Given the description of an element on the screen output the (x, y) to click on. 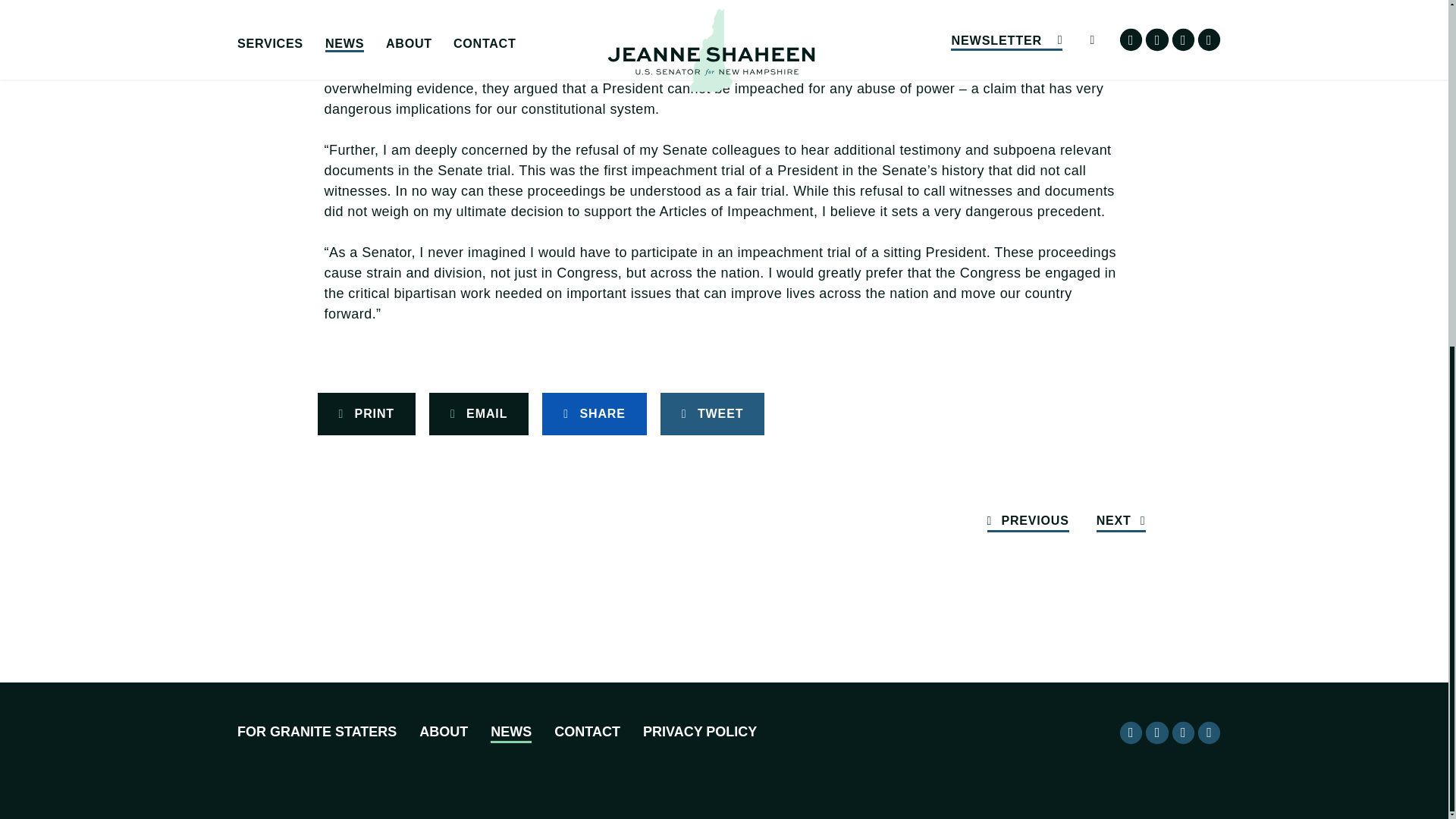
Privacy Policy (700, 732)
About (443, 732)
For Granite Staters (316, 732)
Contact (587, 732)
News (510, 732)
